Given the description of an element on the screen output the (x, y) to click on. 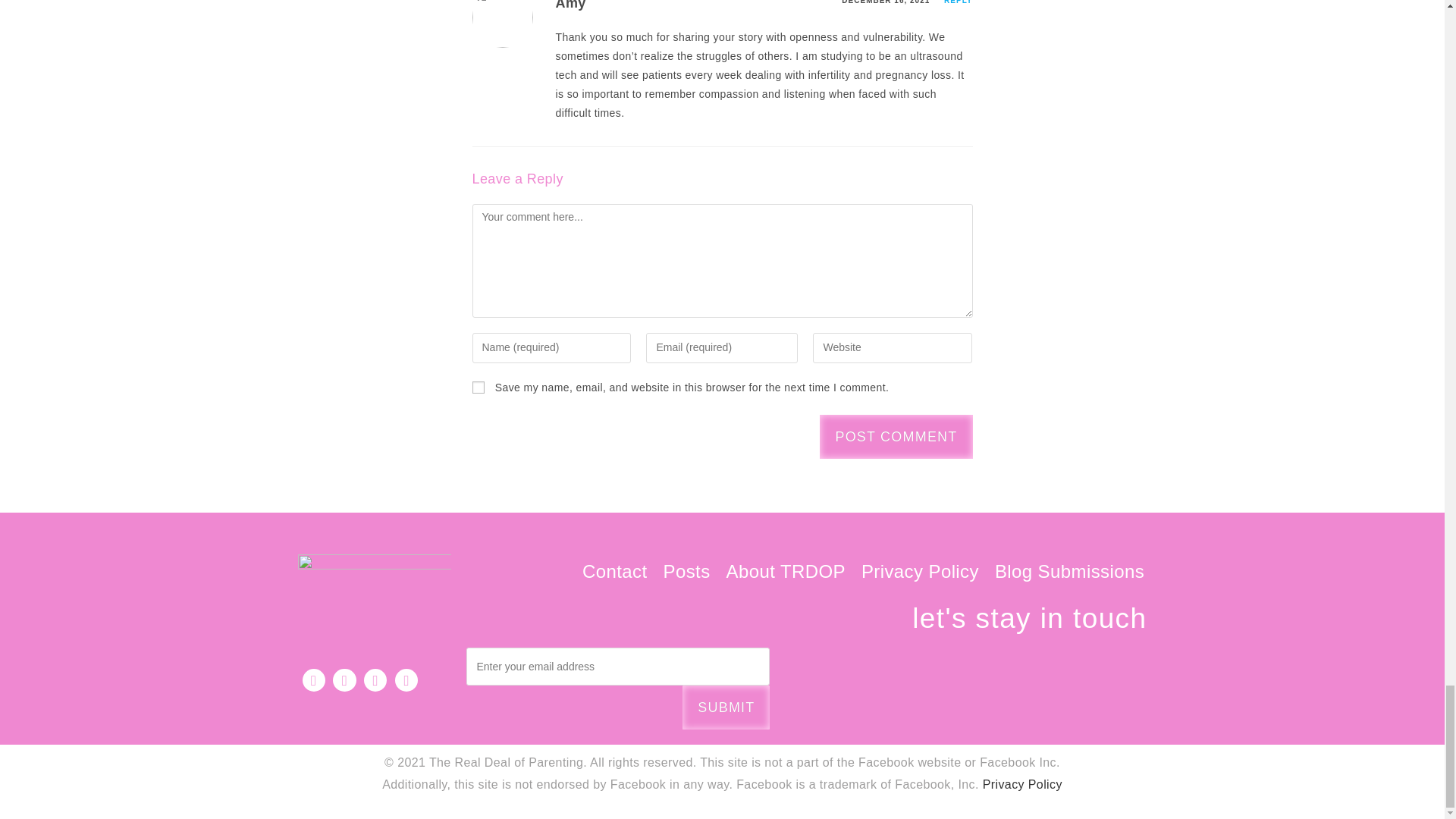
yes (477, 387)
Enter your email address (617, 666)
Post Comment (895, 436)
